Given the description of an element on the screen output the (x, y) to click on. 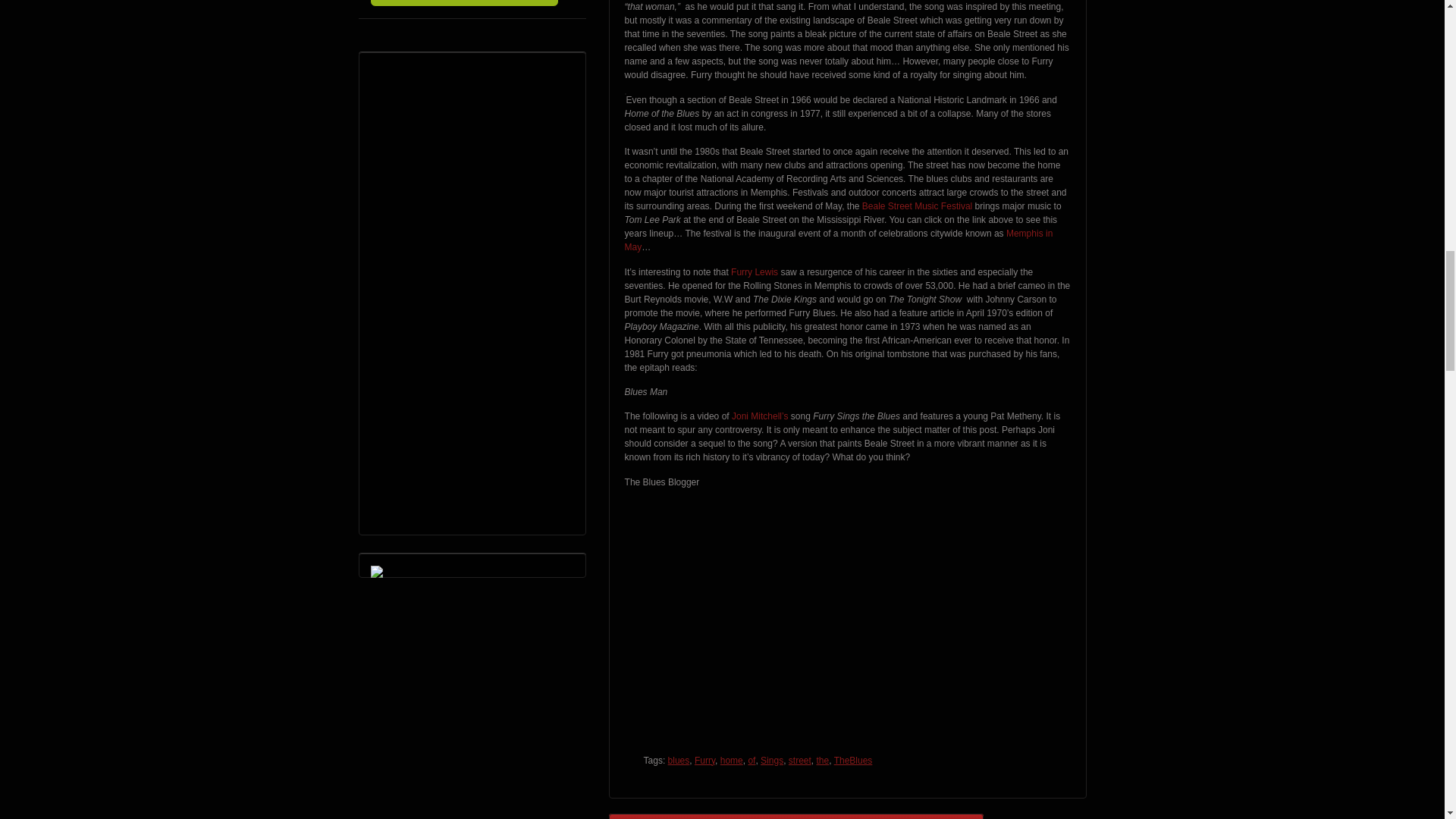
Beale Street Music Festival (916, 205)
blues (679, 760)
Furry Lewis (753, 271)
home (731, 760)
Memphis in May (838, 240)
Sings (771, 760)
street (799, 760)
TheBlues (853, 760)
Furry (704, 760)
the (821, 760)
